Given the description of an element on the screen output the (x, y) to click on. 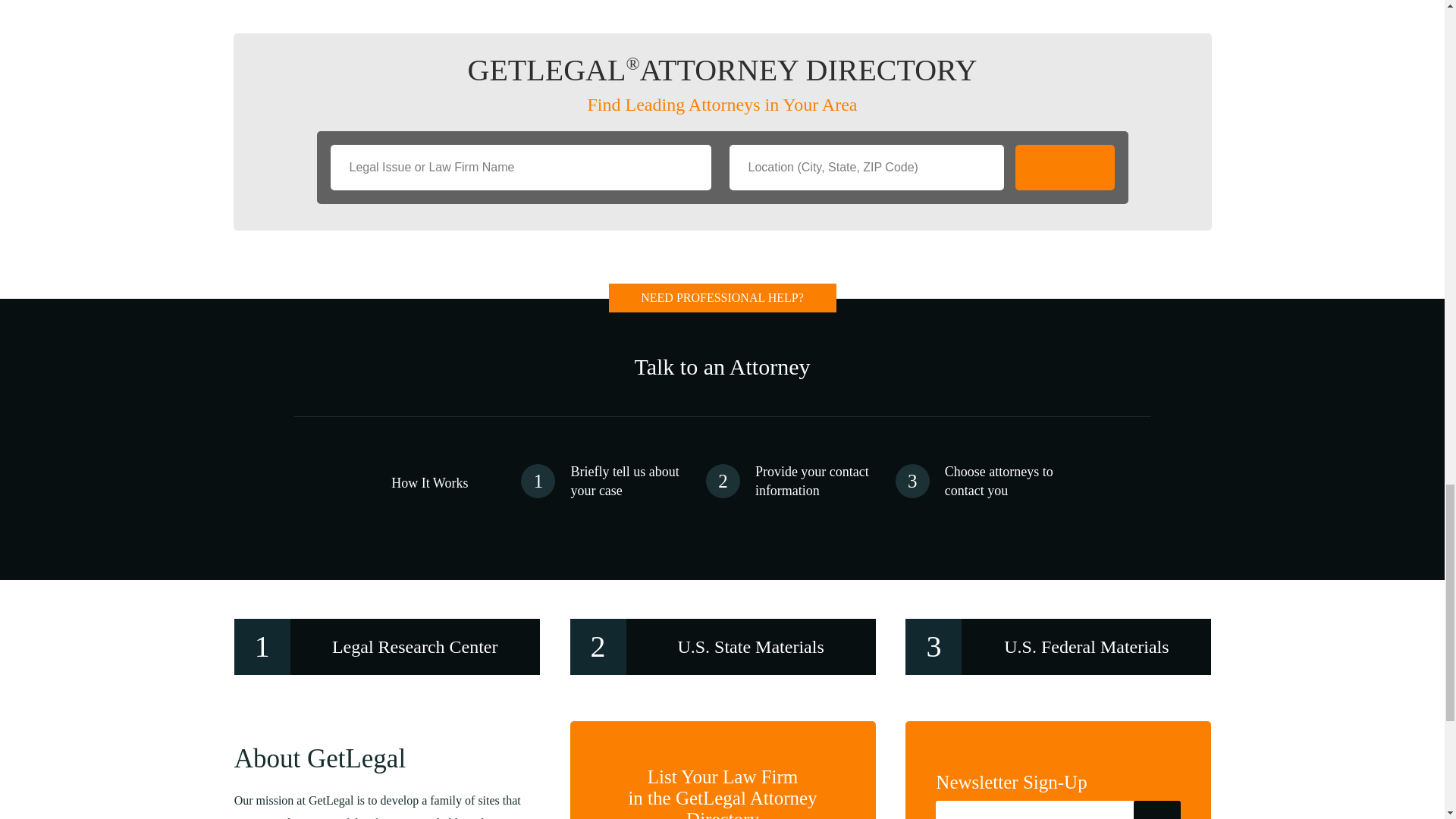
Subscribe! (1157, 809)
Search (1063, 167)
